Given the description of an element on the screen output the (x, y) to click on. 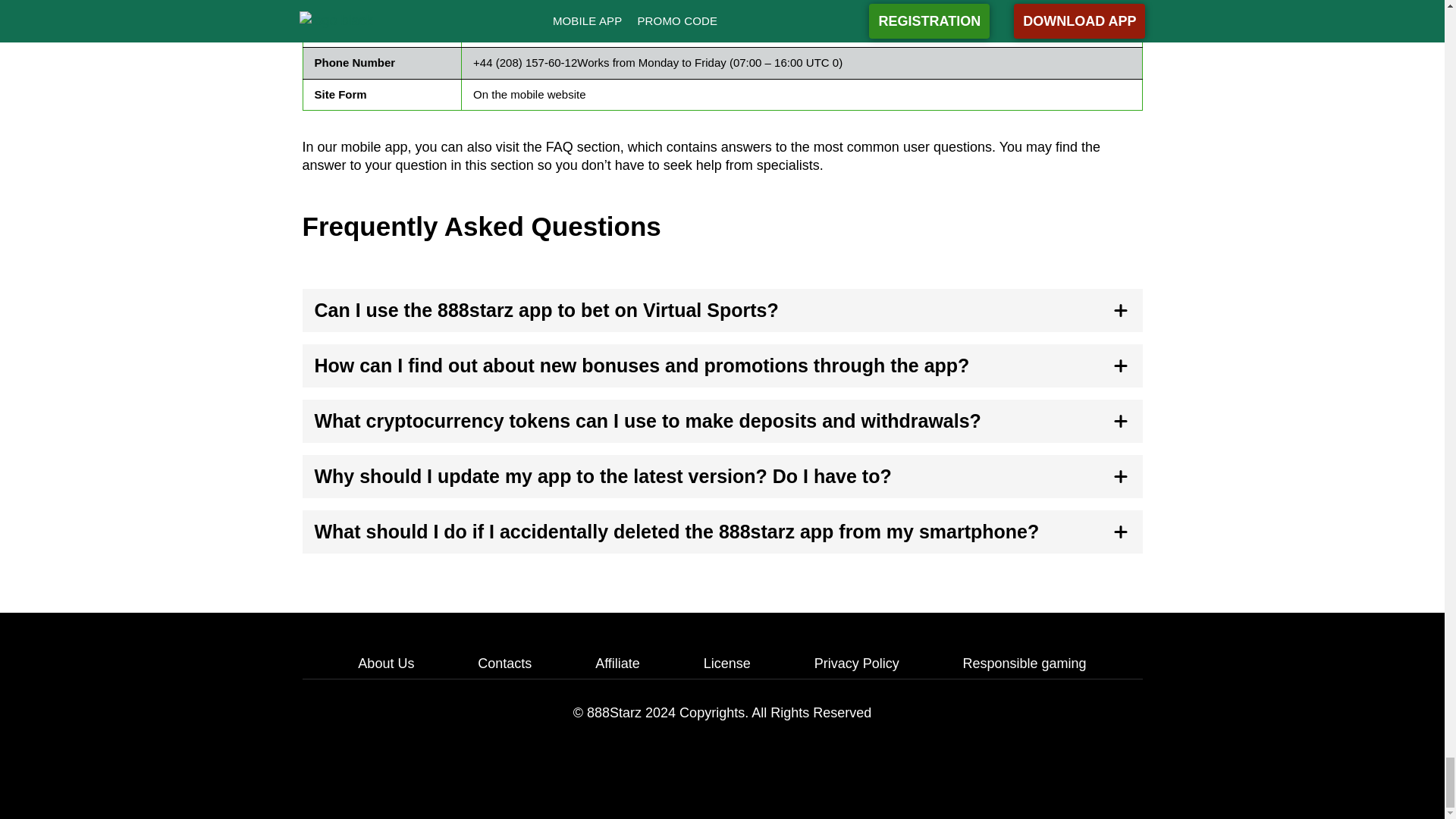
License (727, 663)
Affiliate (617, 663)
Privacy Policy (856, 663)
About Us (385, 663)
Contacts (504, 663)
Responsible gaming (1024, 663)
